Given the description of an element on the screen output the (x, y) to click on. 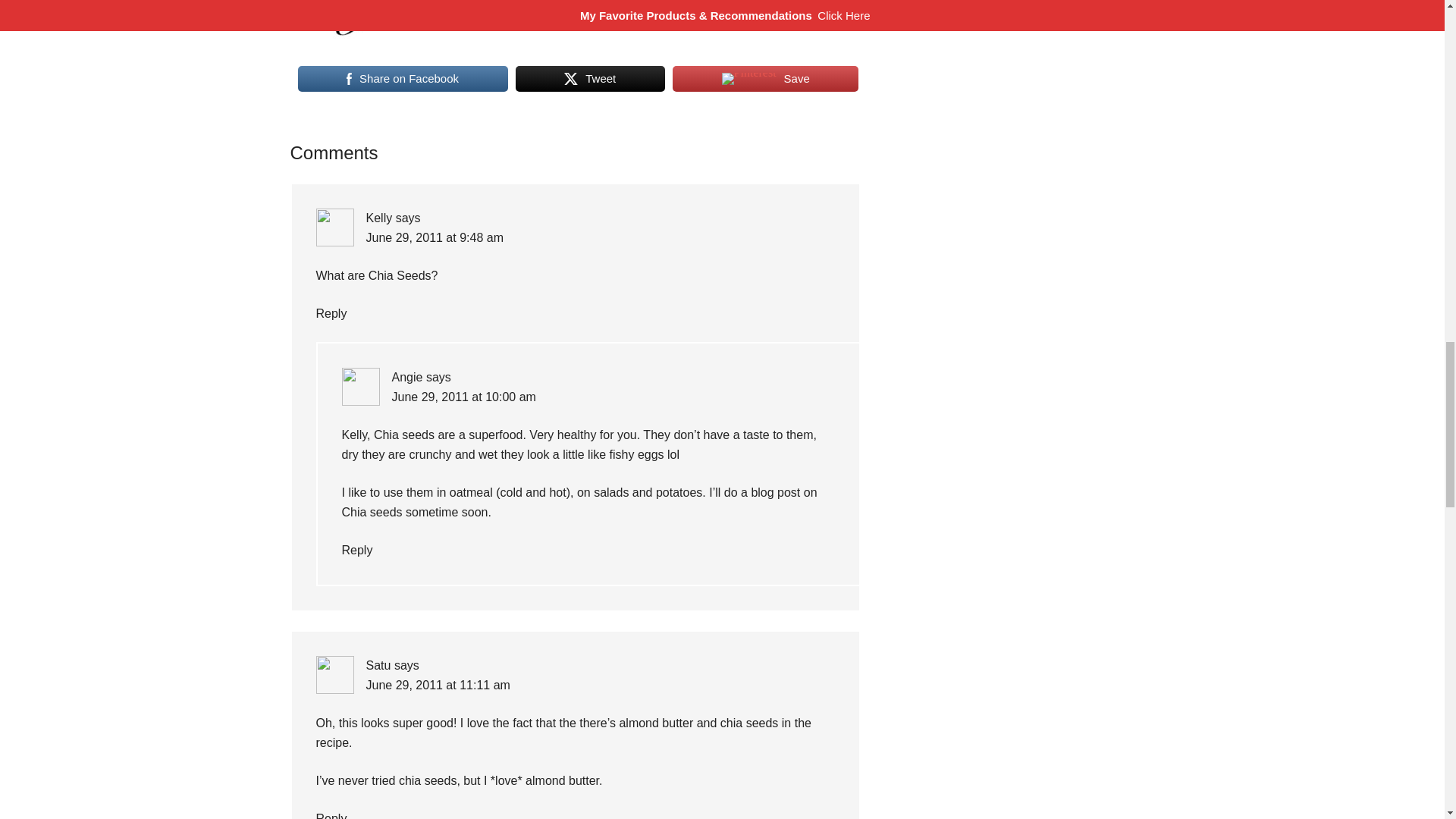
Reply (330, 313)
Reply (330, 815)
Tweet (590, 78)
Angie (406, 377)
Reply (356, 549)
June 29, 2011 at 11:11 am (437, 684)
Satu (377, 665)
Kelly (378, 217)
June 29, 2011 at 9:48 am (433, 237)
Share on Facebook (401, 78)
